Given the description of an element on the screen output the (x, y) to click on. 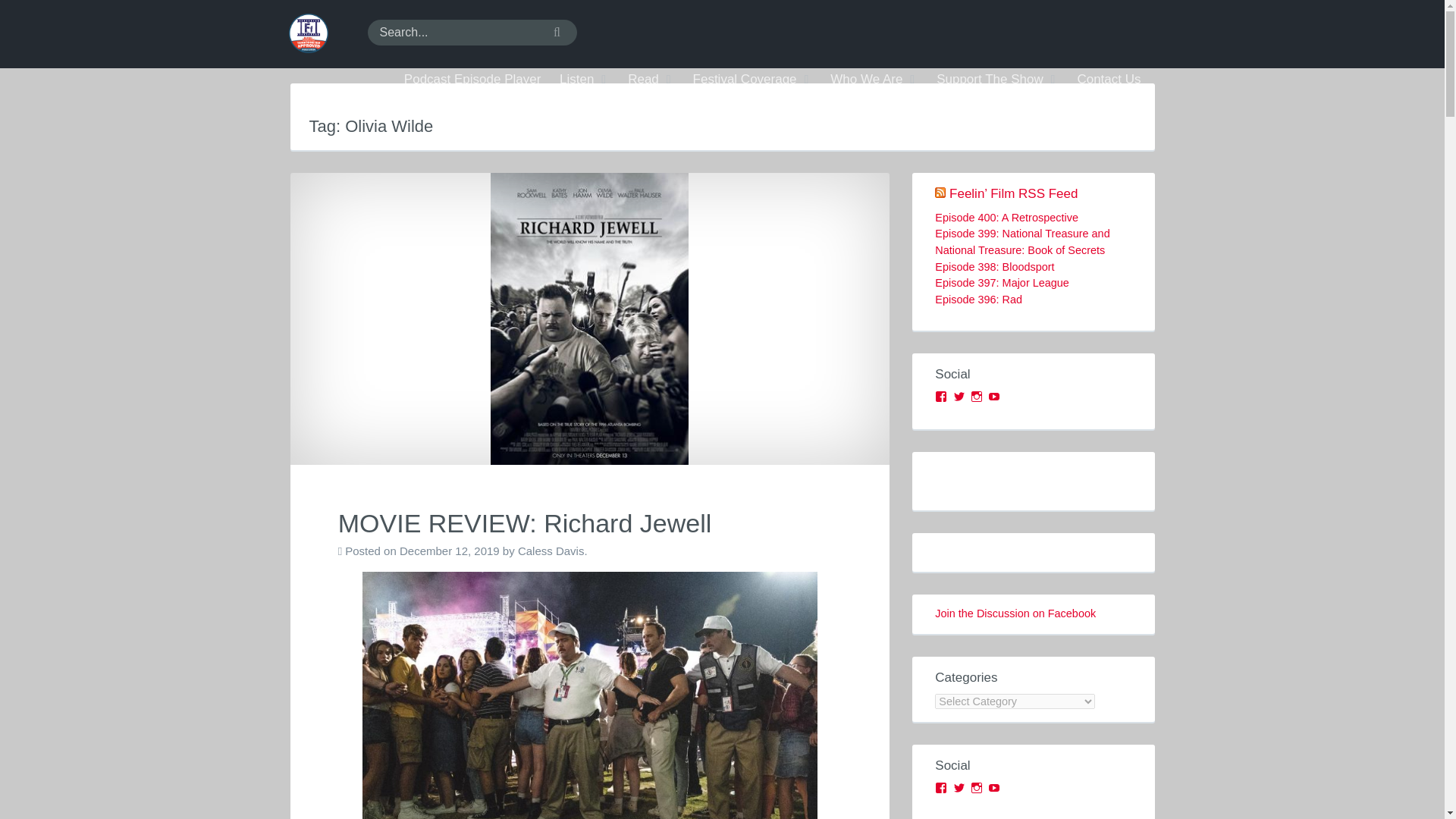
Who We Are (873, 79)
Festival Coverage (752, 79)
Listen (583, 79)
Read (650, 79)
Podcast Episode Player (472, 79)
Search for: (471, 32)
